Given the description of an element on the screen output the (x, y) to click on. 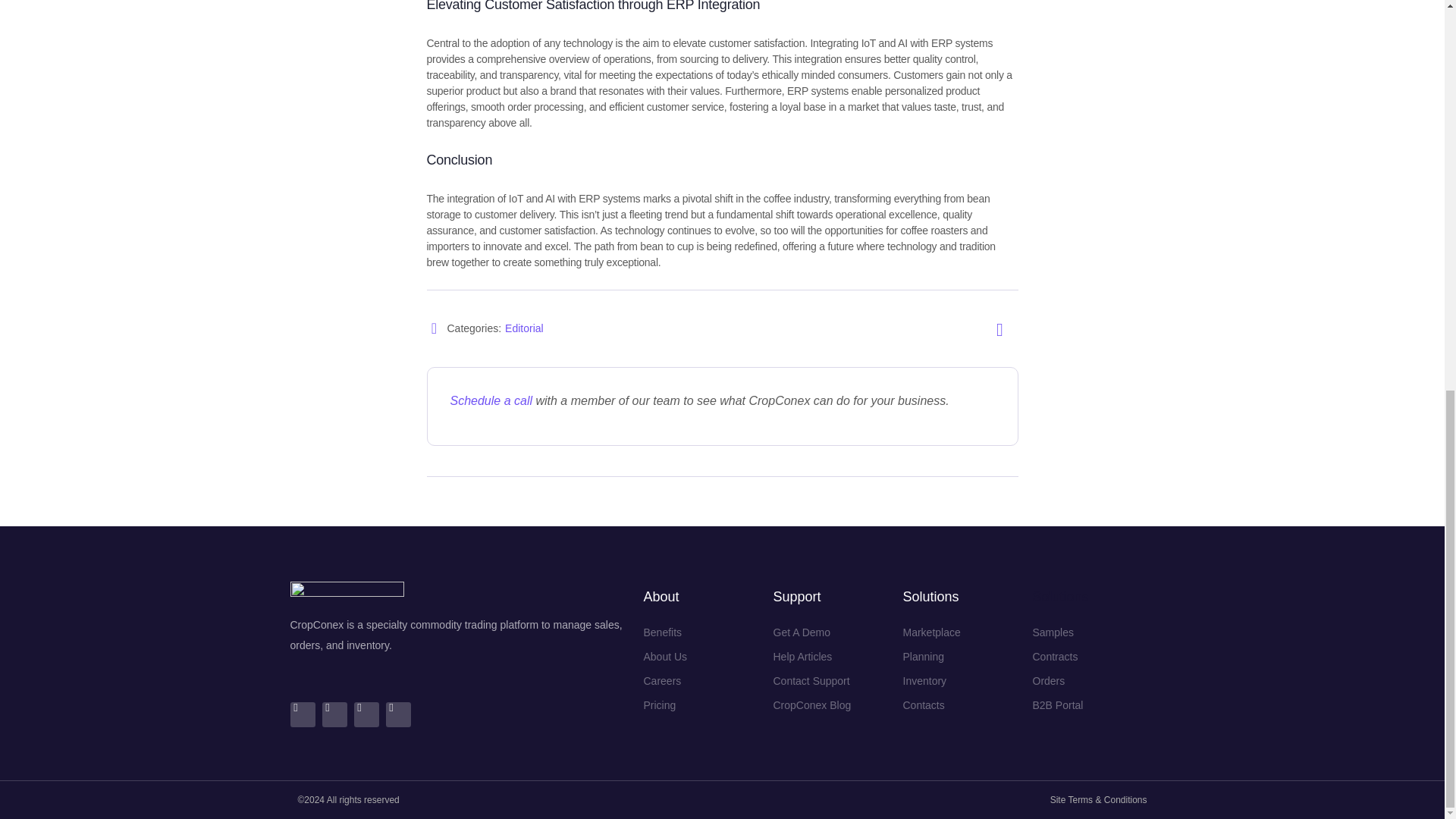
Editorial (524, 328)
Benefits (670, 632)
Schedule a call (490, 400)
Careers (670, 680)
About Us (670, 657)
